Given the description of an element on the screen output the (x, y) to click on. 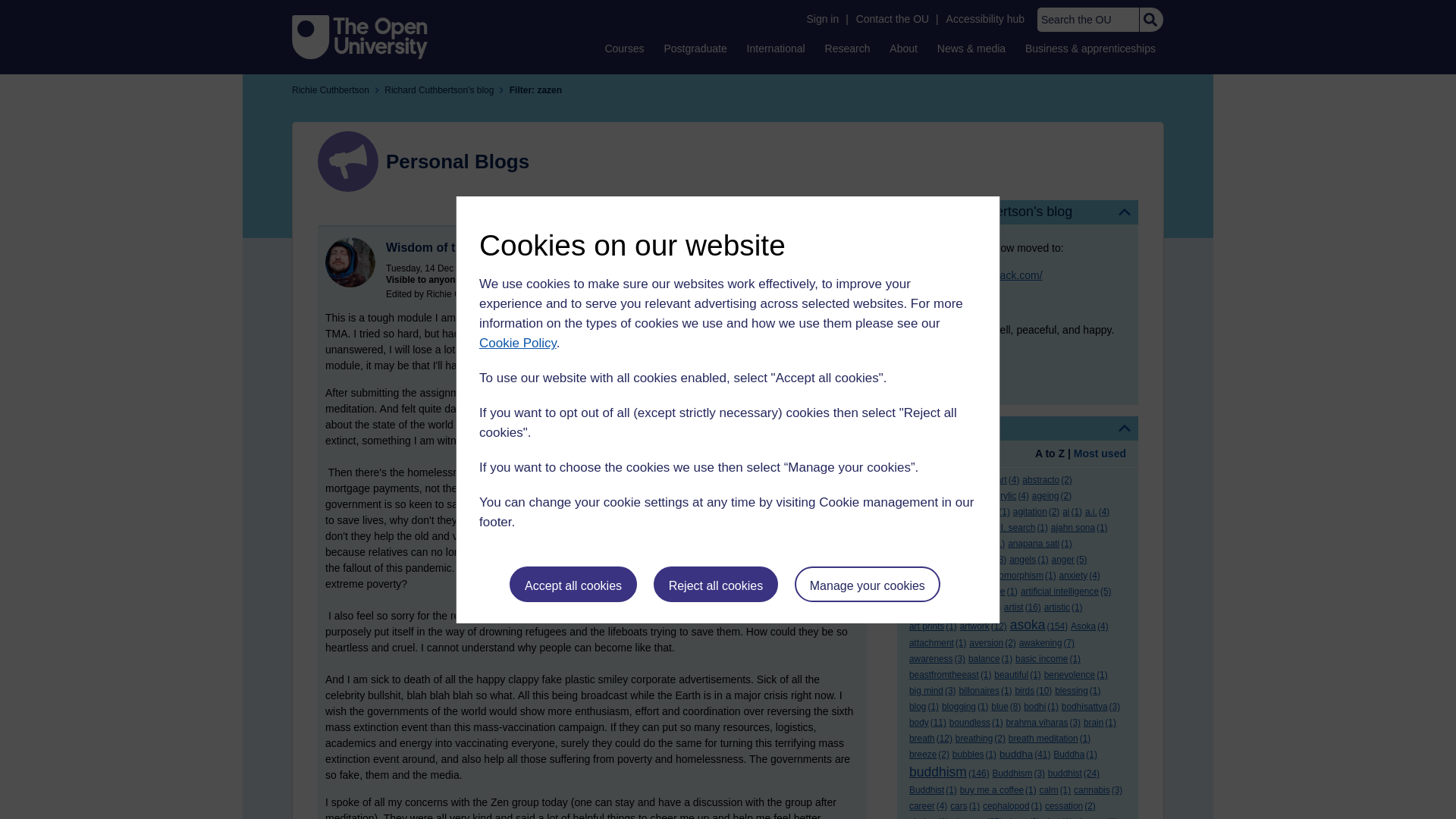
International (775, 48)
Postgraduate (695, 48)
Research (847, 48)
Cookie Policy (517, 342)
Accessibility hub (985, 19)
Tags (1017, 428)
Search (1149, 19)
Manage your cookies (867, 583)
About (903, 48)
Contact the OU (892, 19)
Help with Order: (951, 454)
Richard Cuthbertson's blog (1017, 211)
Accept all cookies (573, 583)
Courses (623, 48)
